Given the description of an element on the screen output the (x, y) to click on. 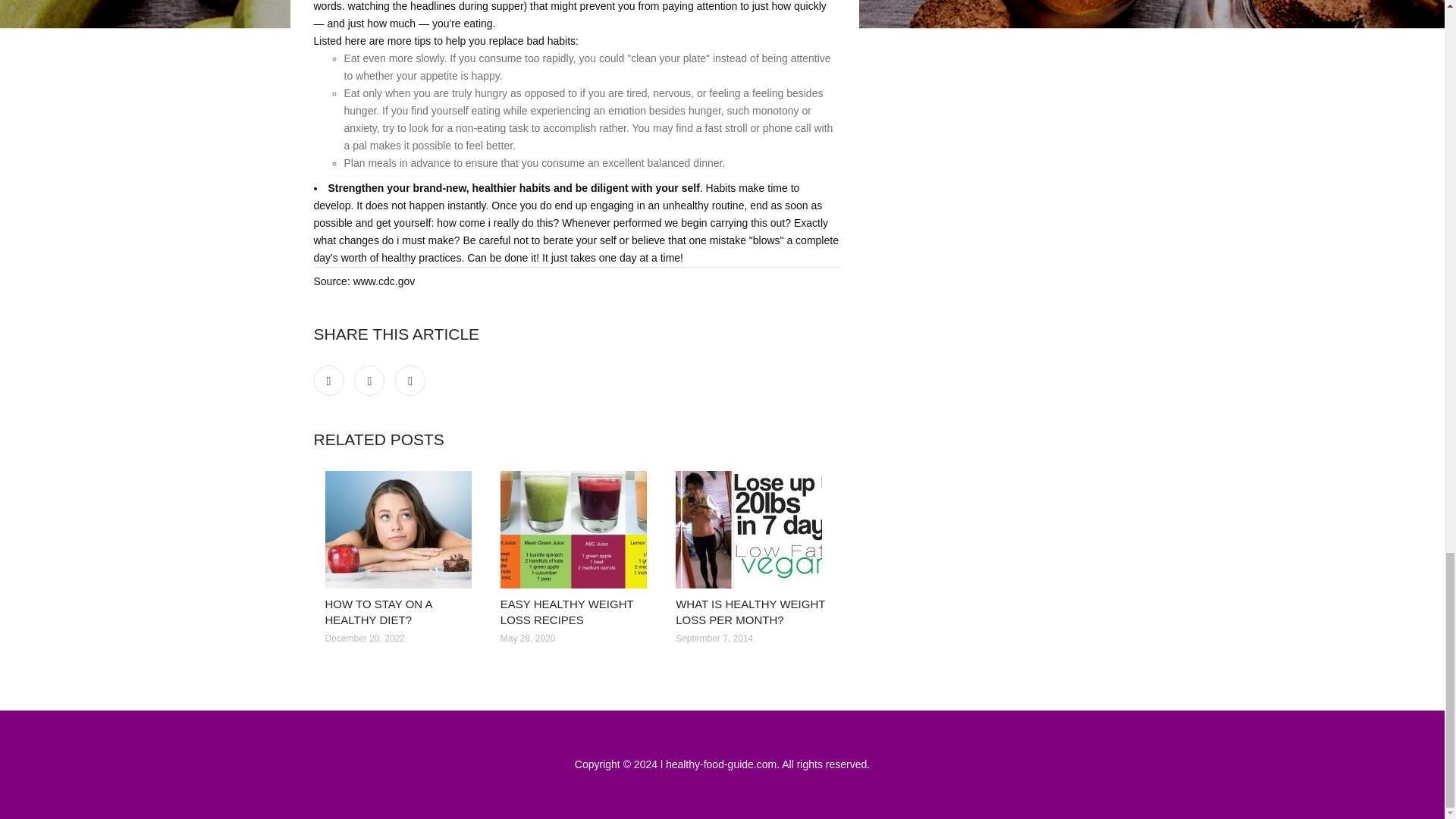
How to Stay on a healthy diet? (400, 529)
Easy healthy weight loss recipes (576, 529)
WHAT IS HEALTHY WEIGHT LOSS PER MONTH? (750, 611)
HOW TO STAY ON A HEALTHY DIET? (377, 611)
What is healthy weight loss per month? (751, 529)
EASY HEALTHY WEIGHT LOSS RECIPES (566, 611)
